Given the description of an element on the screen output the (x, y) to click on. 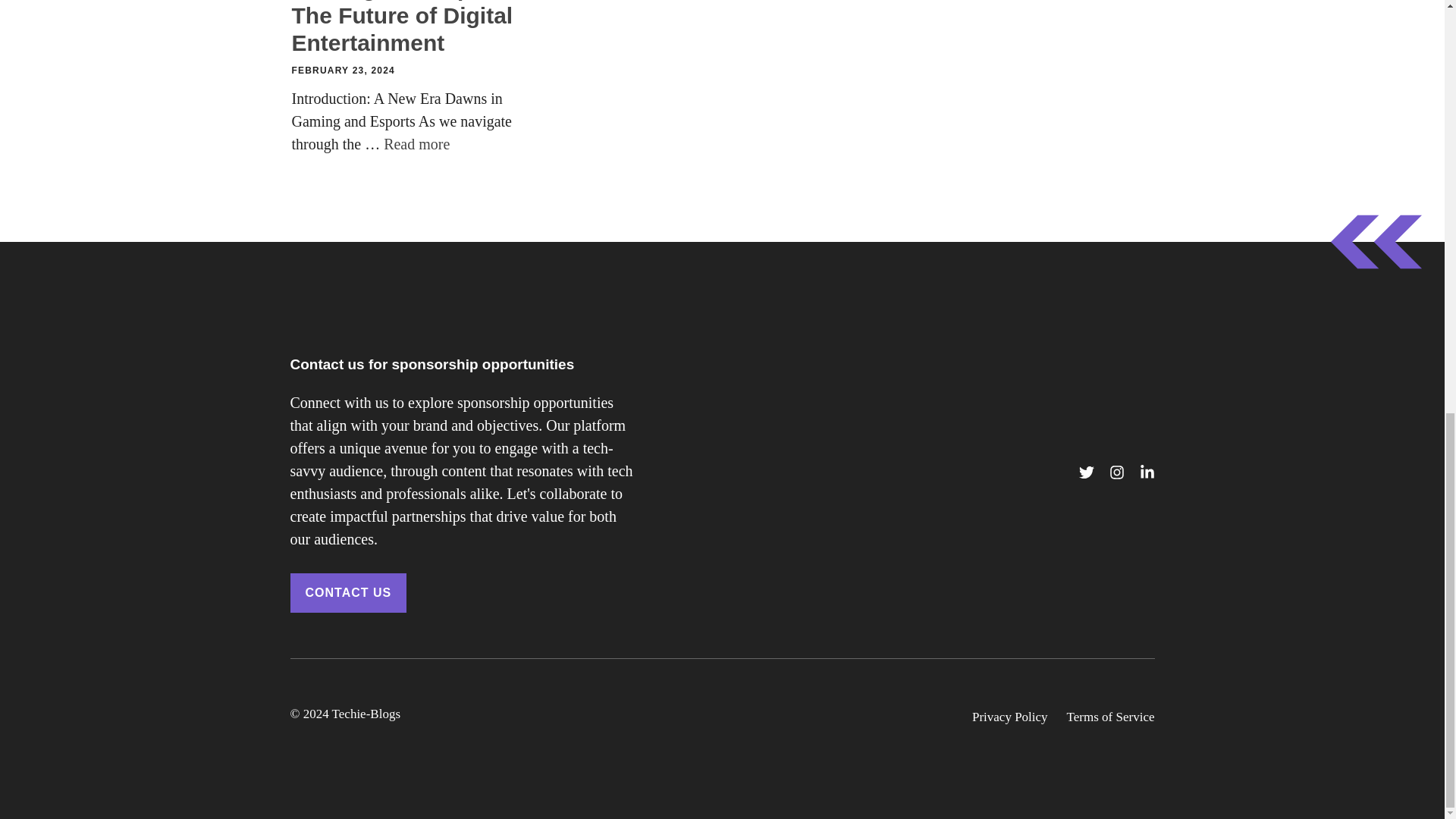
Gaming and Esports: The Future of Digital Entertainment (406, 27)
Gaming and Esports: The Future of Digital Entertainment (416, 143)
Terms of Service (1110, 717)
Read more (416, 143)
Privacy Policy (1010, 717)
CONTACT US (347, 592)
